Given the description of an element on the screen output the (x, y) to click on. 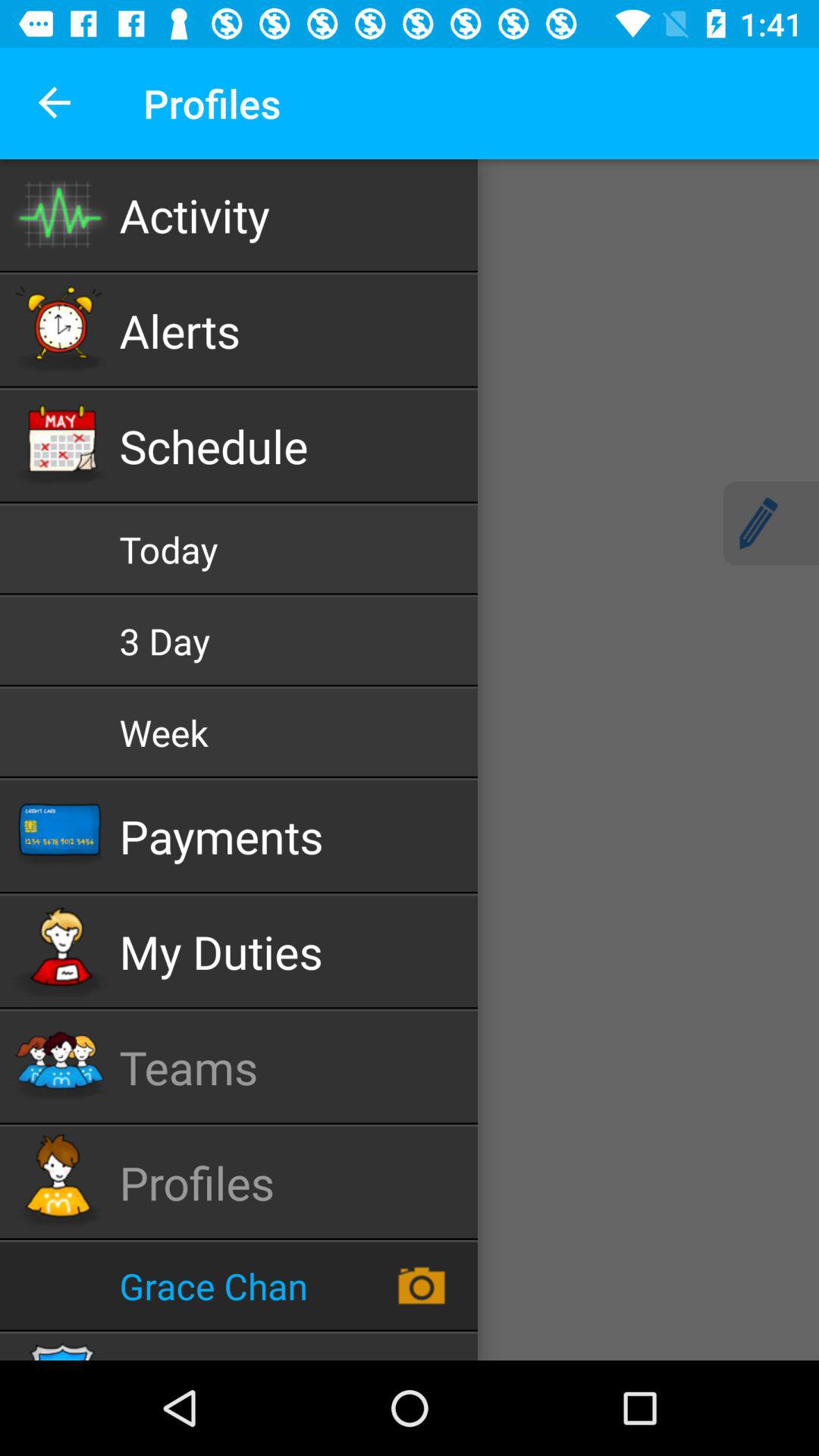
click on the clock icon beside alerts option (59, 330)
select the camera icon just right to grace chan (422, 1285)
tap the icon just left to the activity (59, 214)
